Given the description of an element on the screen output the (x, y) to click on. 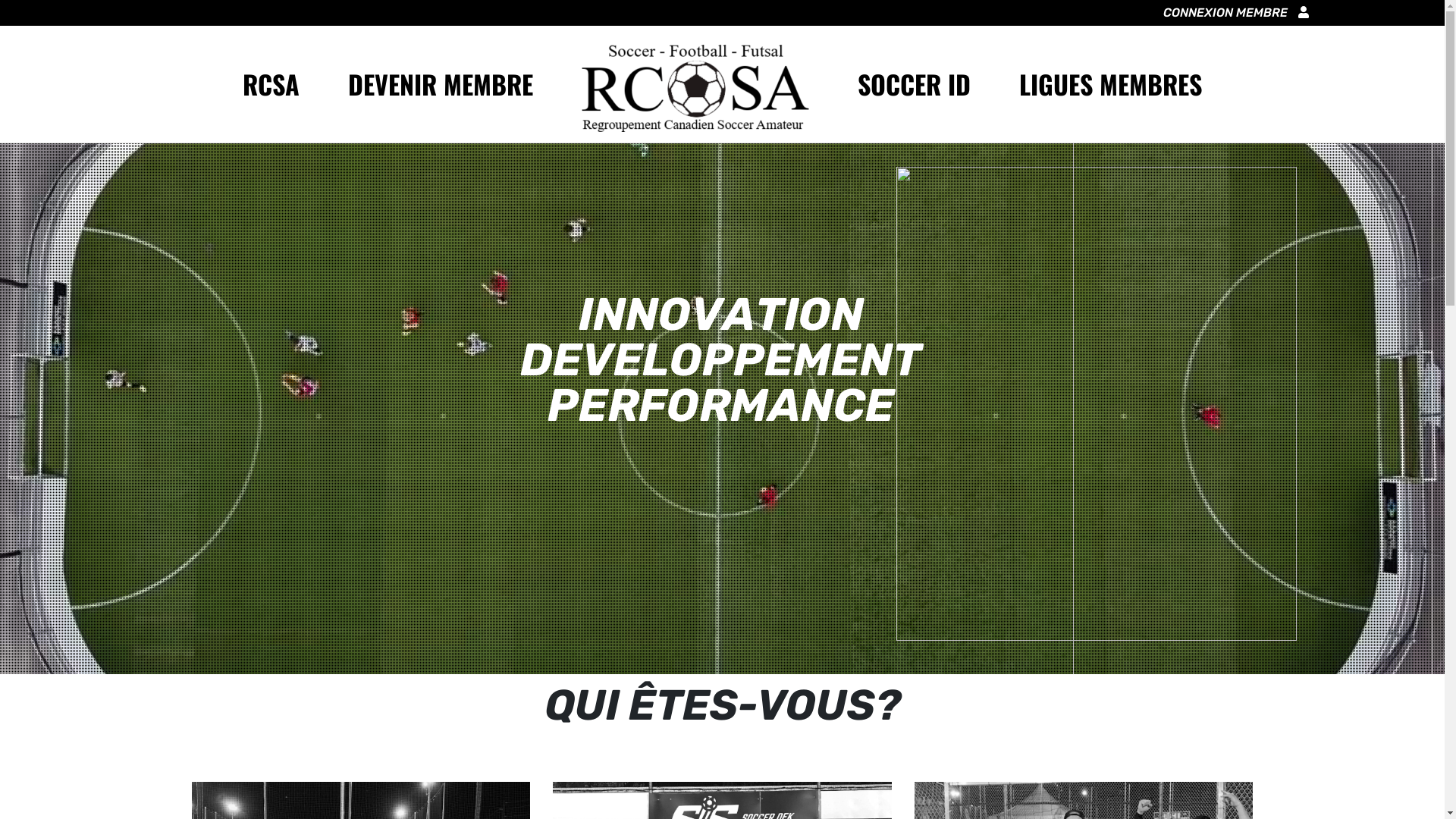
LIGUES MEMBRES Element type: text (1110, 83)
DEVENIR MEMBRE Element type: text (440, 83)
SOCCER ID Element type: text (914, 83)
RCSA Element type: text (271, 83)
LOGO Element type: text (695, 84)
CONNEXION MEMBRE Element type: text (1235, 12)
